Given the description of an element on the screen output the (x, y) to click on. 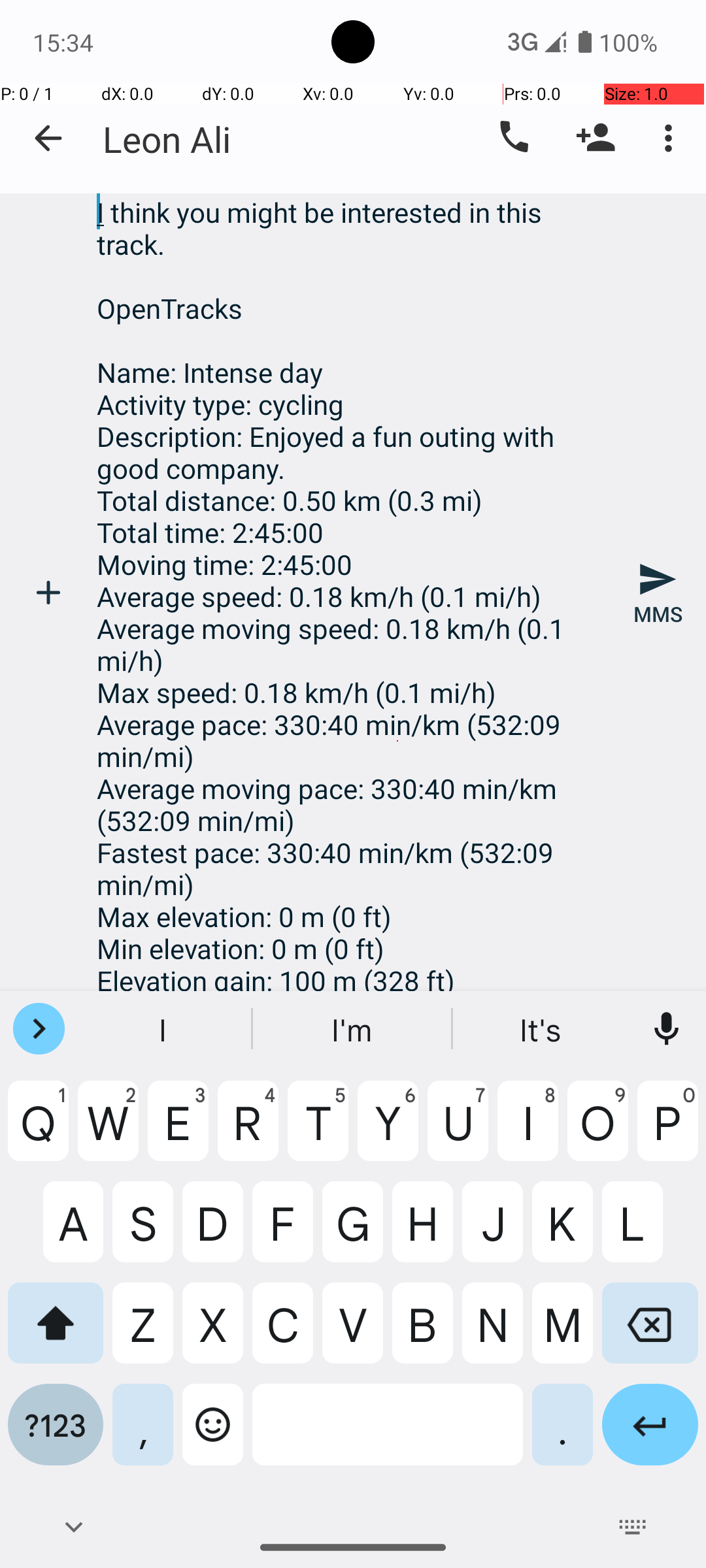
Leon Ali Element type: android.widget.TextView (166, 138)
I think you might be interested in this track.

OpenTracks

Name: Intense day
Activity type: cycling
Description: Enjoyed a fun outing with good company.
Total distance: 0.50 km (0.3 mi)
Total time: 2:45:00
Moving time: 2:45:00
Average speed: 0.18 km/h (0.1 mi/h)
Average moving speed: 0.18 km/h (0.1 mi/h)
Max speed: 0.18 km/h (0.1 mi/h)
Average pace: 330:40 min/km (532:09 min/mi)
Average moving pace: 330:40 min/km (532:09 min/mi)
Fastest pace: 330:40 min/km (532:09 min/mi)
Max elevation: 0 m (0 ft)
Min elevation: 0 m (0 ft)
Elevation gain: 100 m (328 ft)
Elevation loss: 150 m (492 ft)
Recorded: Sunday, October 15, 2023 at 5:00:00 PM Z
 Element type: android.widget.EditText (352, 592)
MMS Element type: android.widget.Button (657, 592)
I'm Element type: android.widget.FrameLayout (352, 1028)
It's Element type: android.widget.FrameLayout (541, 1028)
